Given the description of an element on the screen output the (x, y) to click on. 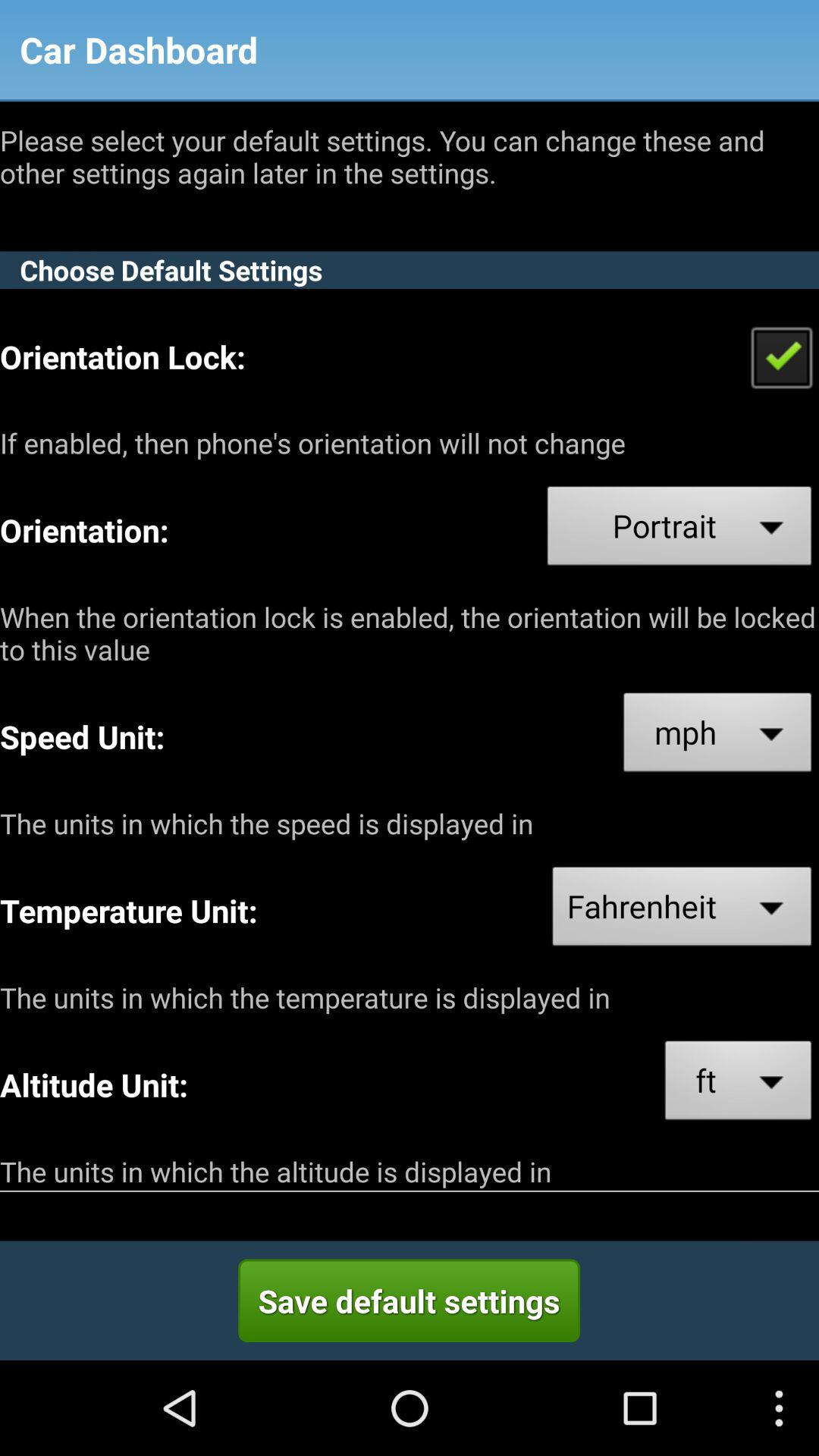
change the look (781, 356)
